Given the description of an element on the screen output the (x, y) to click on. 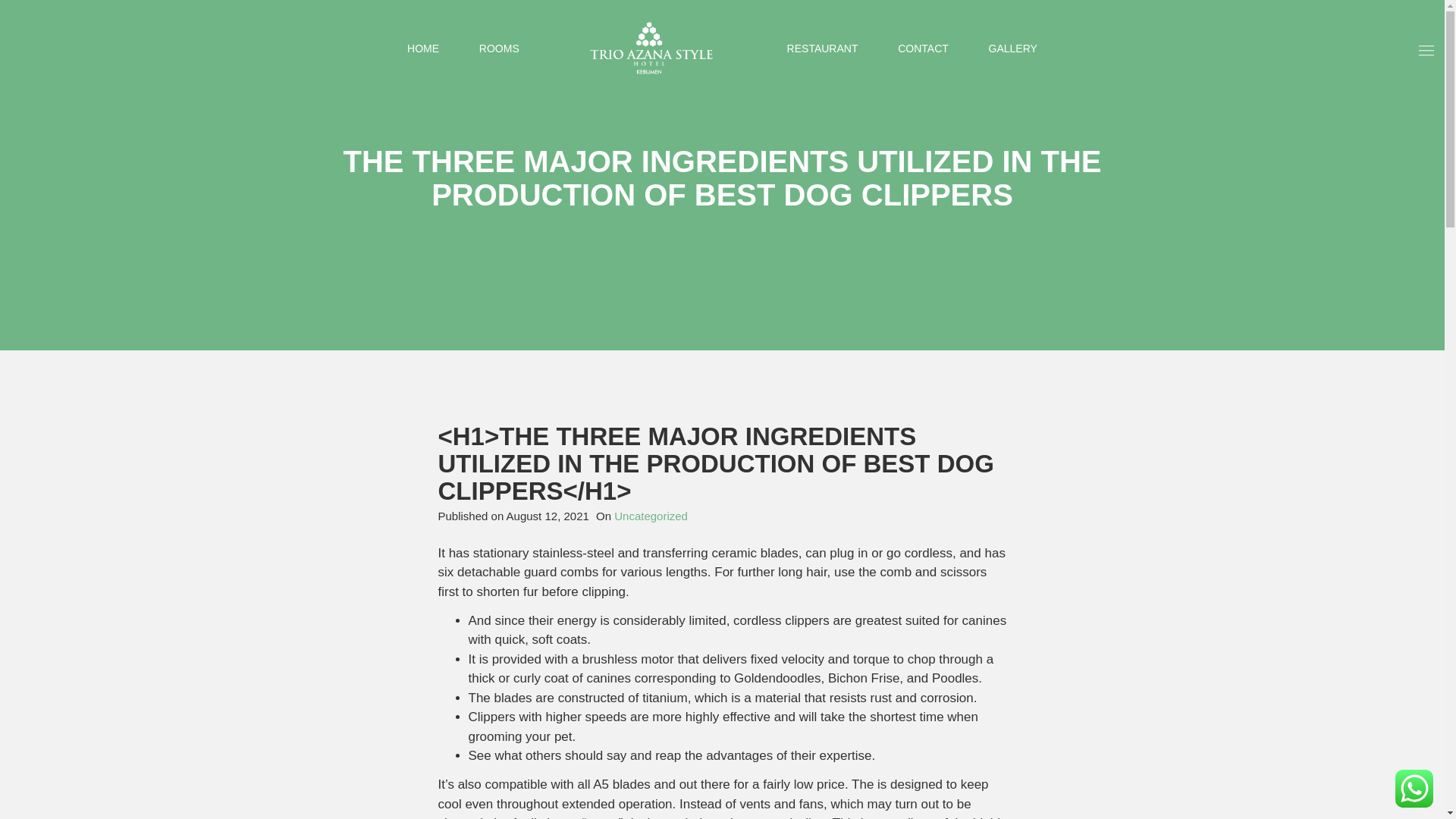
Home (423, 48)
Gallery (1012, 48)
CONTACT (923, 48)
RESTAURANT (823, 48)
Rooms (499, 48)
HOME (423, 48)
ROOMS (499, 48)
Contact (923, 48)
Uncategorized (650, 515)
View all posts in category: Uncategorized (650, 515)
Restaurant (823, 48)
GALLERY (1012, 48)
